Given the description of an element on the screen output the (x, y) to click on. 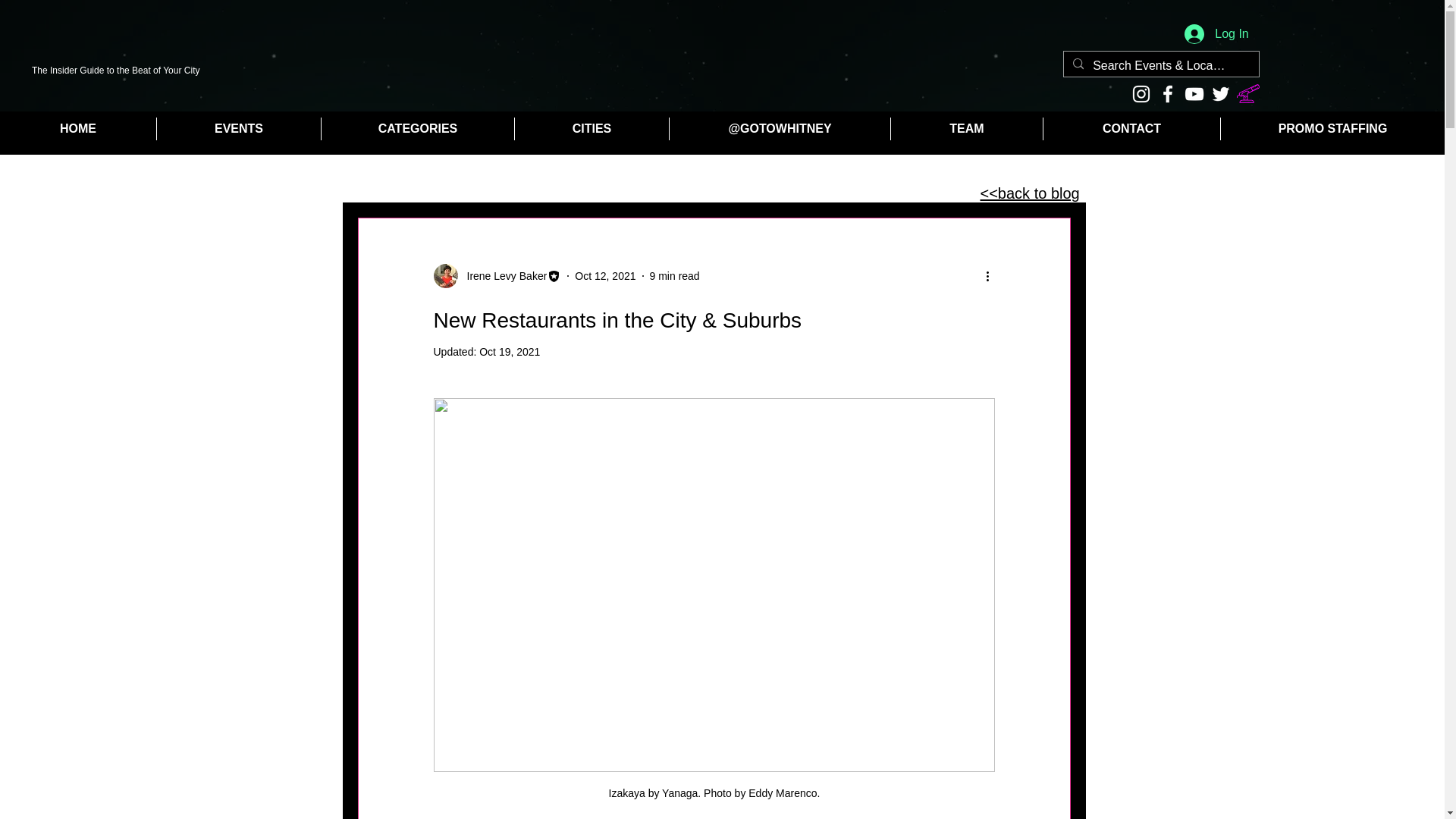
TEAM (965, 128)
HOME (77, 128)
CONTACT (1131, 128)
9 min read (674, 275)
Irene Levy Baker (502, 276)
Irene Levy Baker (497, 275)
Oct 12, 2021 (604, 275)
EVENTS (237, 128)
Oct 19, 2021 (509, 351)
Log In (1216, 33)
